Given the description of an element on the screen output the (x, y) to click on. 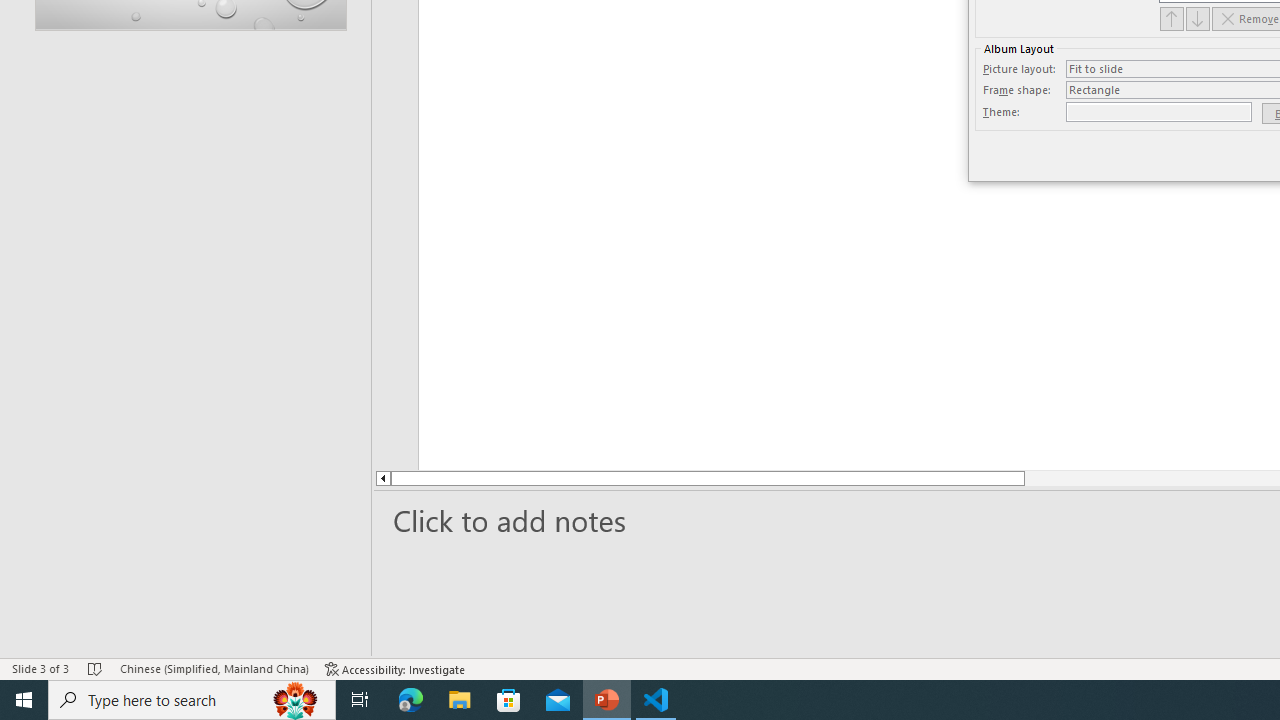
Theme (1158, 111)
Next Item (1197, 18)
Previous Item (1171, 18)
